Given the description of an element on the screen output the (x, y) to click on. 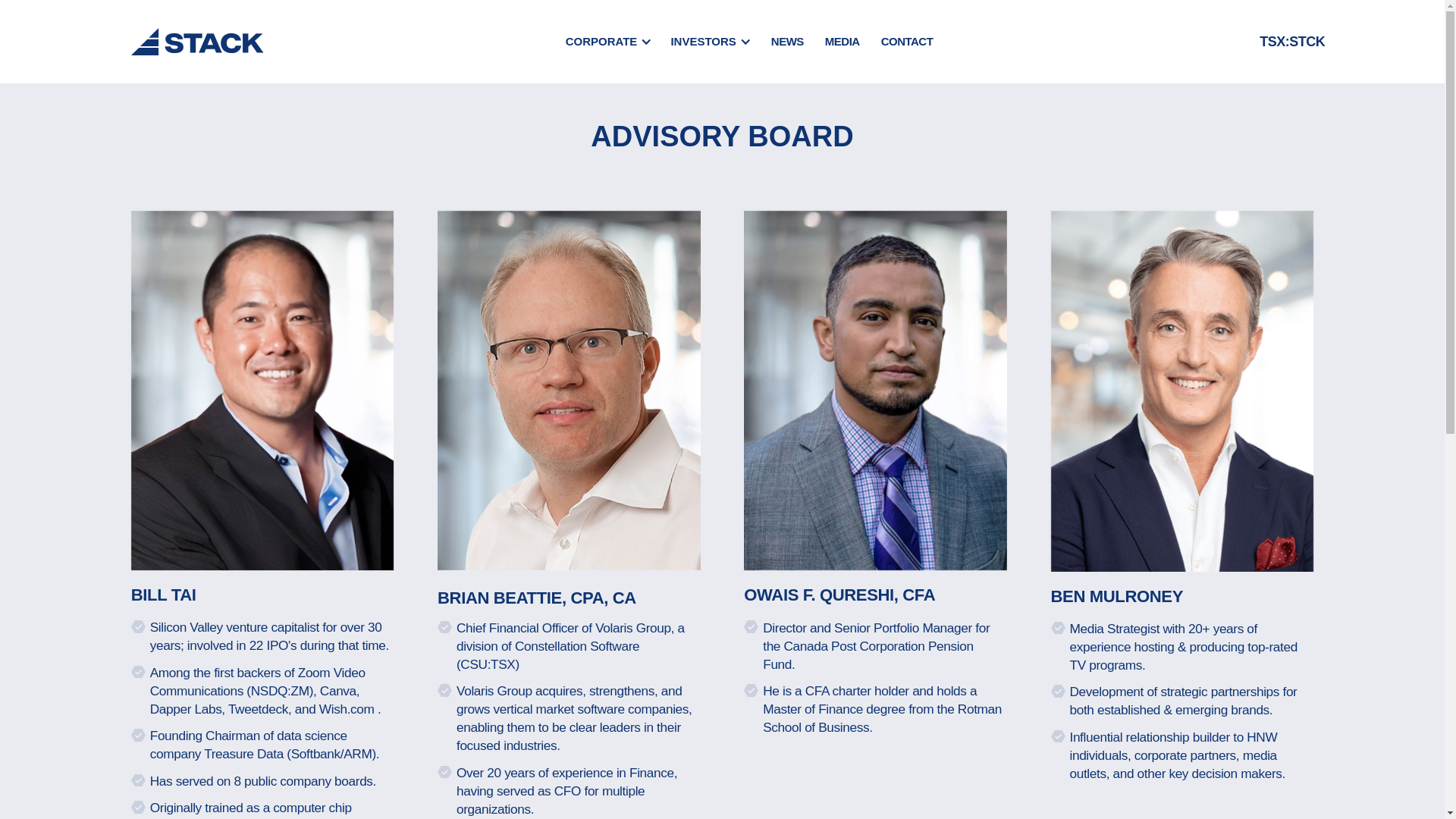
NEWS (786, 41)
CONTACT (906, 41)
MEDIA (841, 41)
TSX:STCK (1284, 43)
